Given the description of an element on the screen output the (x, y) to click on. 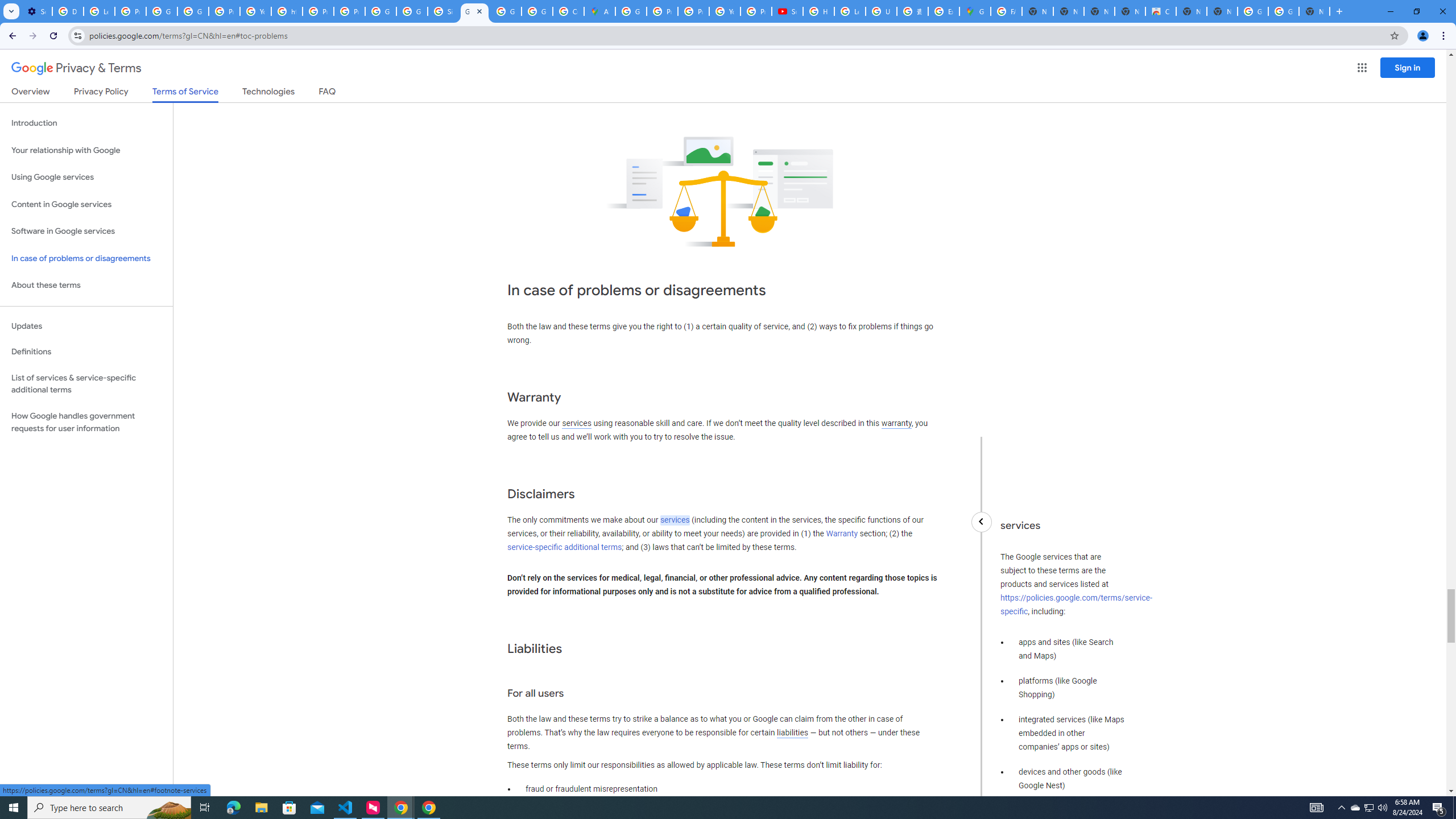
About these terms (86, 284)
Google Images (1252, 11)
service-specific additional terms (563, 547)
https://policies.google.com/terms/service-specific (1075, 604)
Google Maps (974, 11)
Google Images (1283, 11)
